Given the description of an element on the screen output the (x, y) to click on. 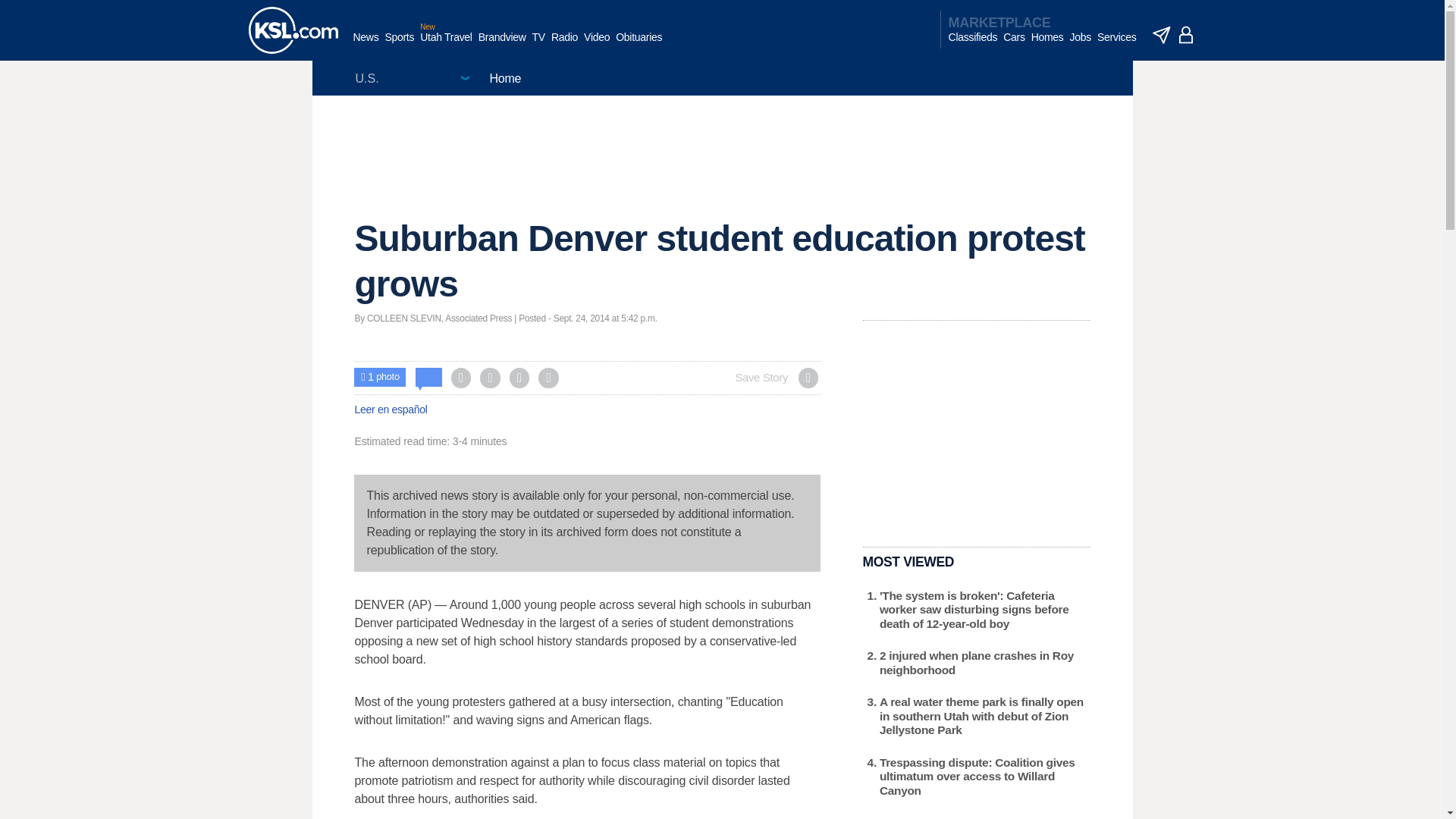
Brandview (502, 45)
account - logged out (1185, 34)
Utah Travel (445, 45)
Sports (398, 45)
KSL homepage (292, 30)
KSL homepage (292, 29)
